Given the description of an element on the screen output the (x, y) to click on. 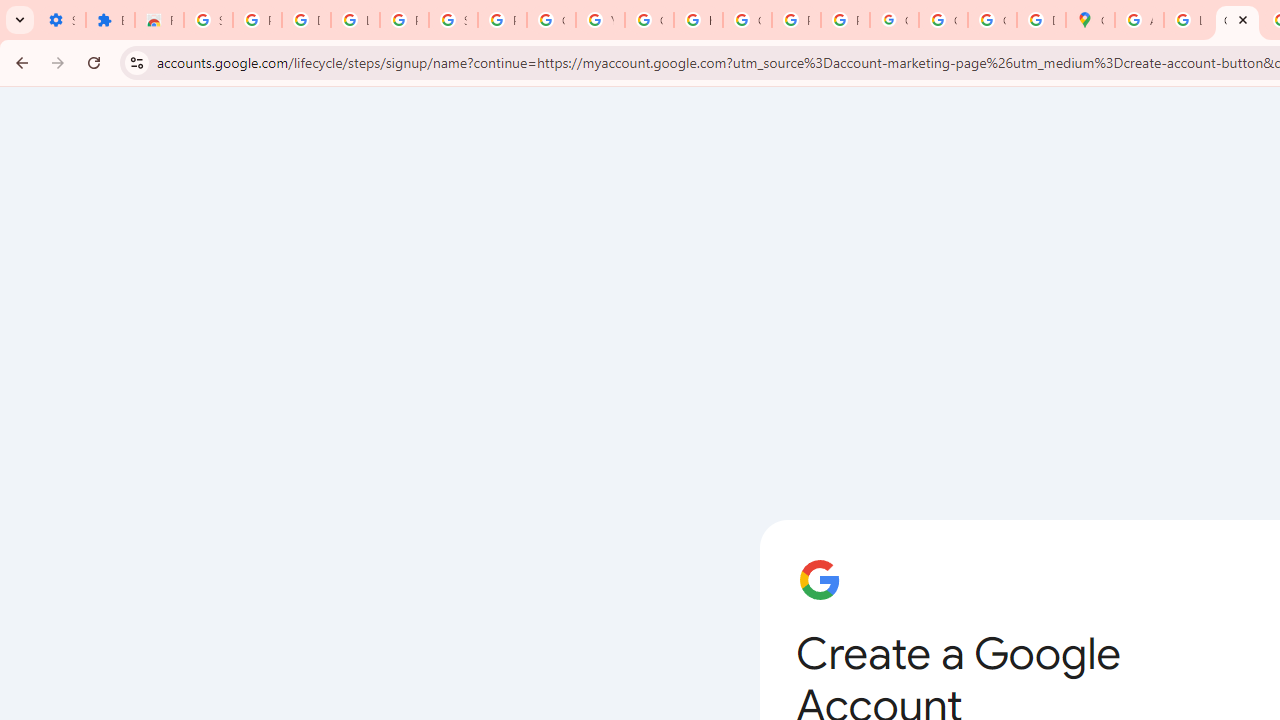
Sign in - Google Accounts (208, 20)
Google Maps (1090, 20)
Reviews: Helix Fruit Jump Arcade Game (159, 20)
Create your Google Account (1237, 20)
https://scholar.google.com/ (698, 20)
